Given the description of an element on the screen output the (x, y) to click on. 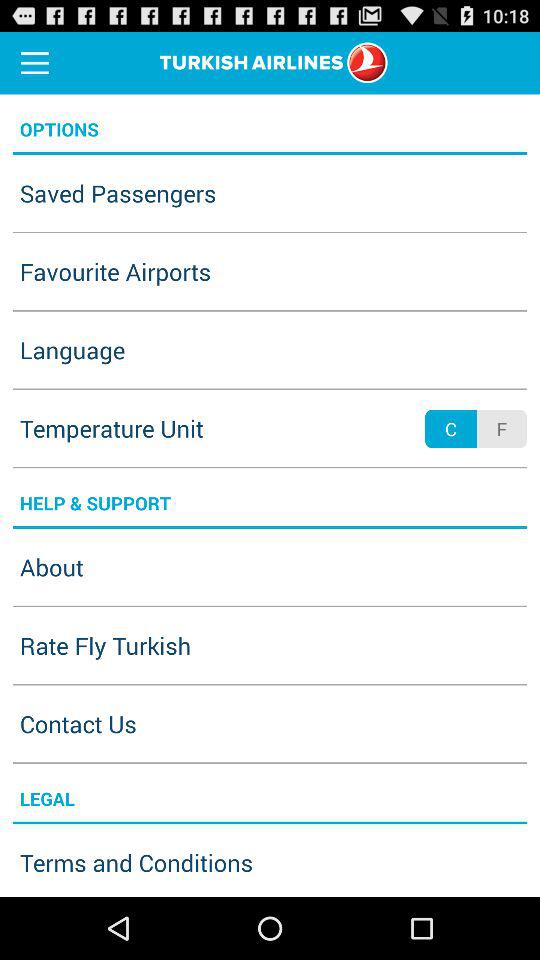
turn off c (450, 428)
